Given the description of an element on the screen output the (x, y) to click on. 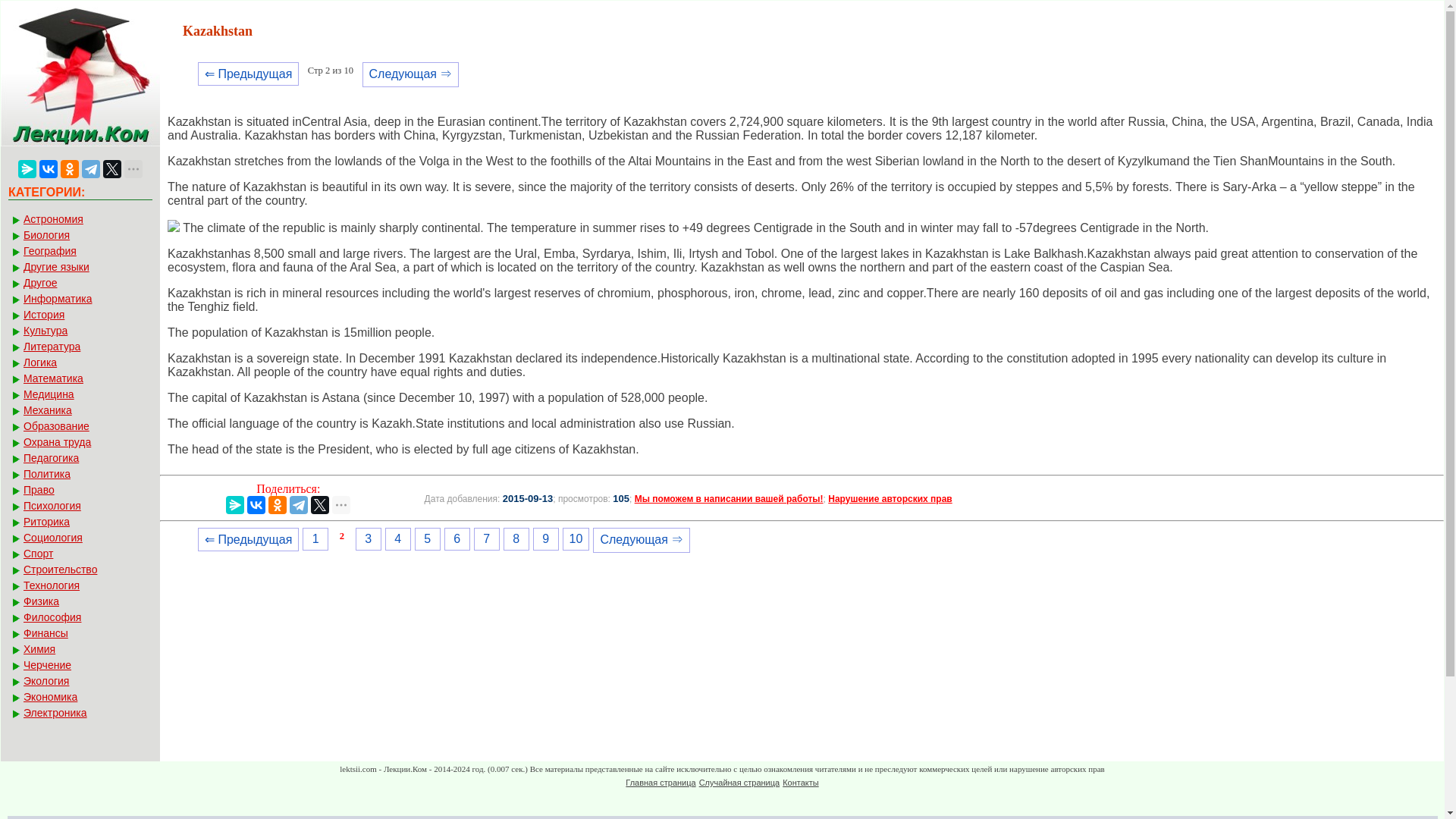
Twitter (320, 505)
Twitter (111, 168)
Telegram (90, 168)
Telegram (298, 505)
